Given the description of an element on the screen output the (x, y) to click on. 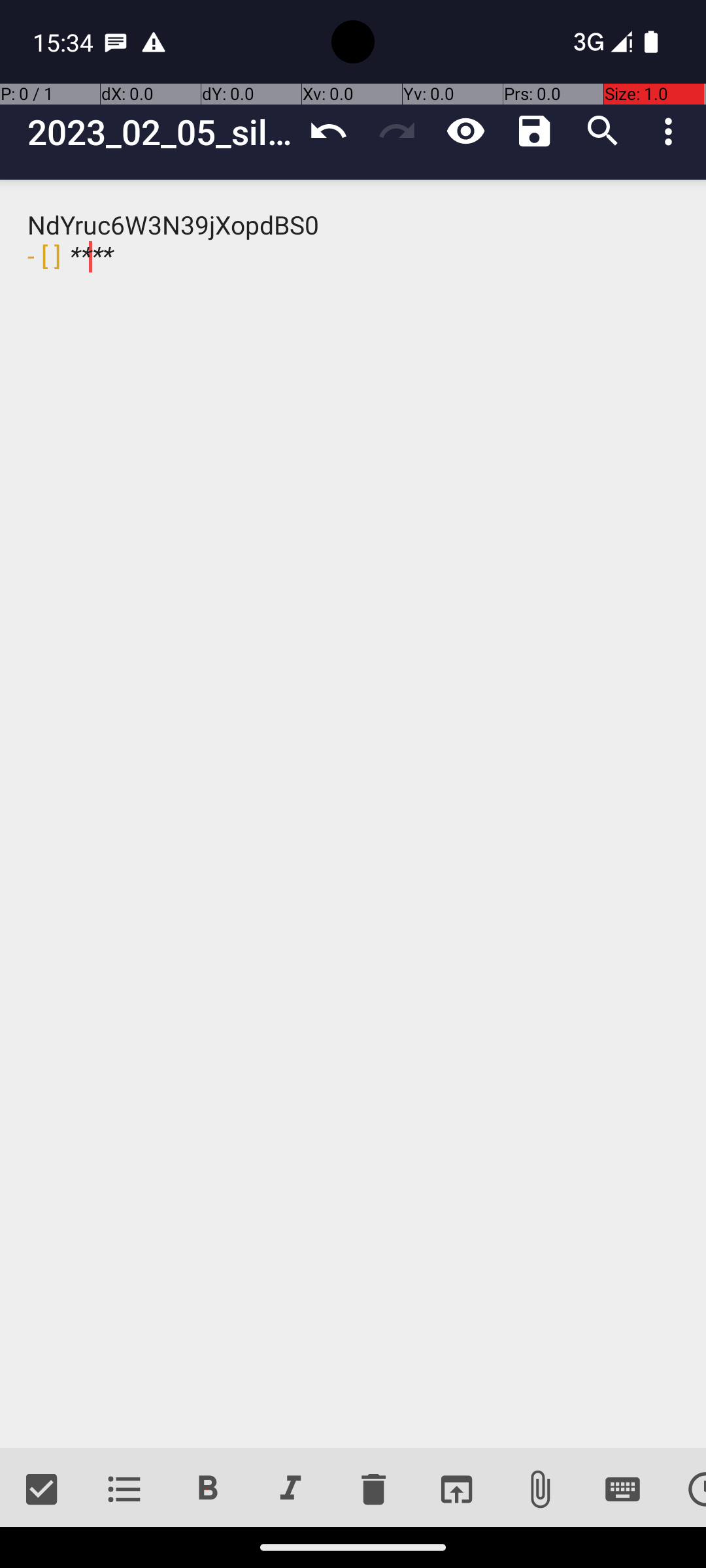
2023_02_05_silly_sun Element type: android.widget.TextView (160, 131)
NdYruc6W3N39jXopdBS0
- [ ] **** Element type: android.widget.EditText (353, 813)
